Given the description of an element on the screen output the (x, y) to click on. 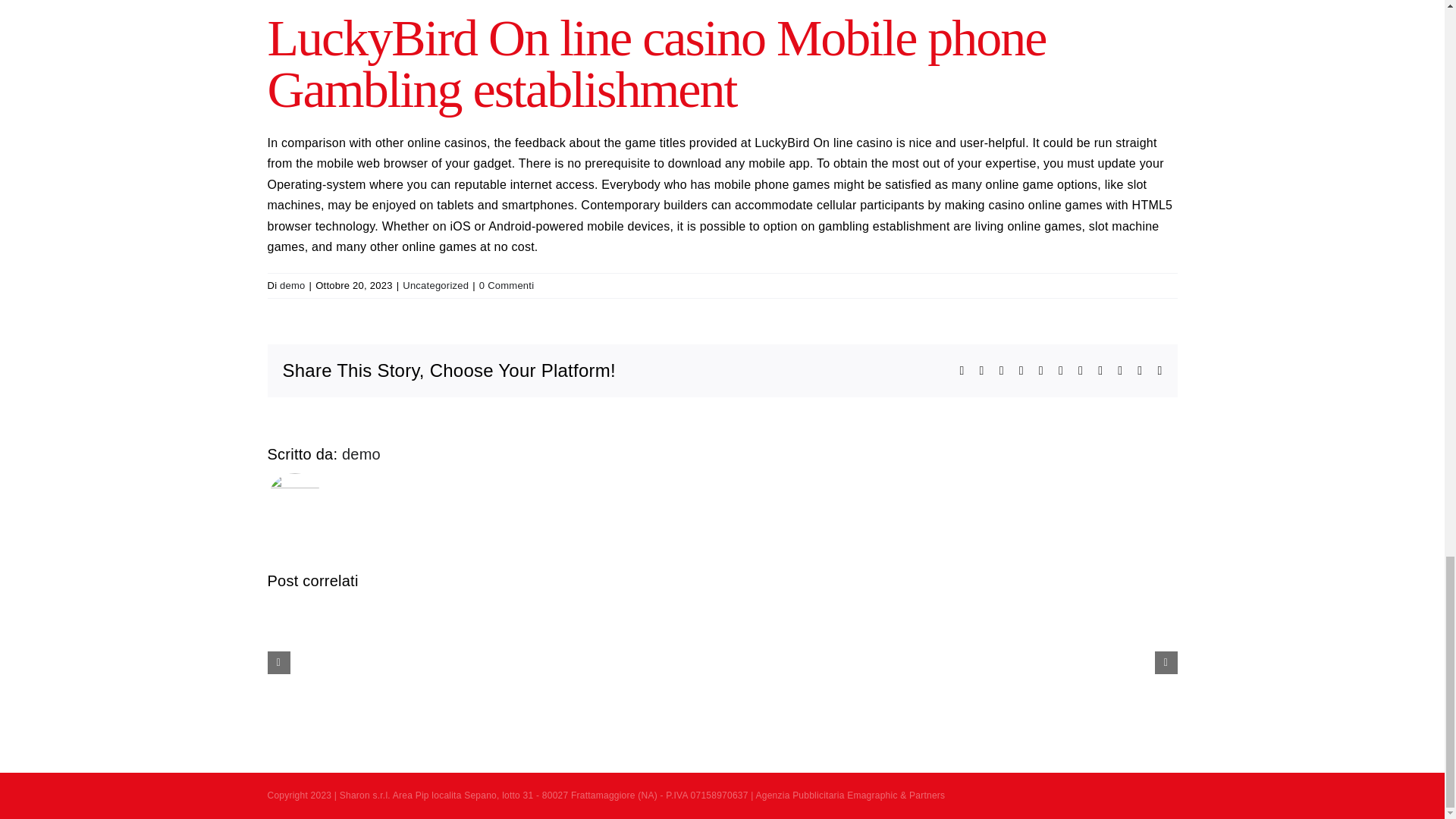
Articoli scritti da demo (361, 453)
demo (291, 285)
Uncategorized (435, 285)
demo (361, 453)
0 Commenti (506, 285)
Articoli scritti da demo (291, 285)
